Given the description of an element on the screen output the (x, y) to click on. 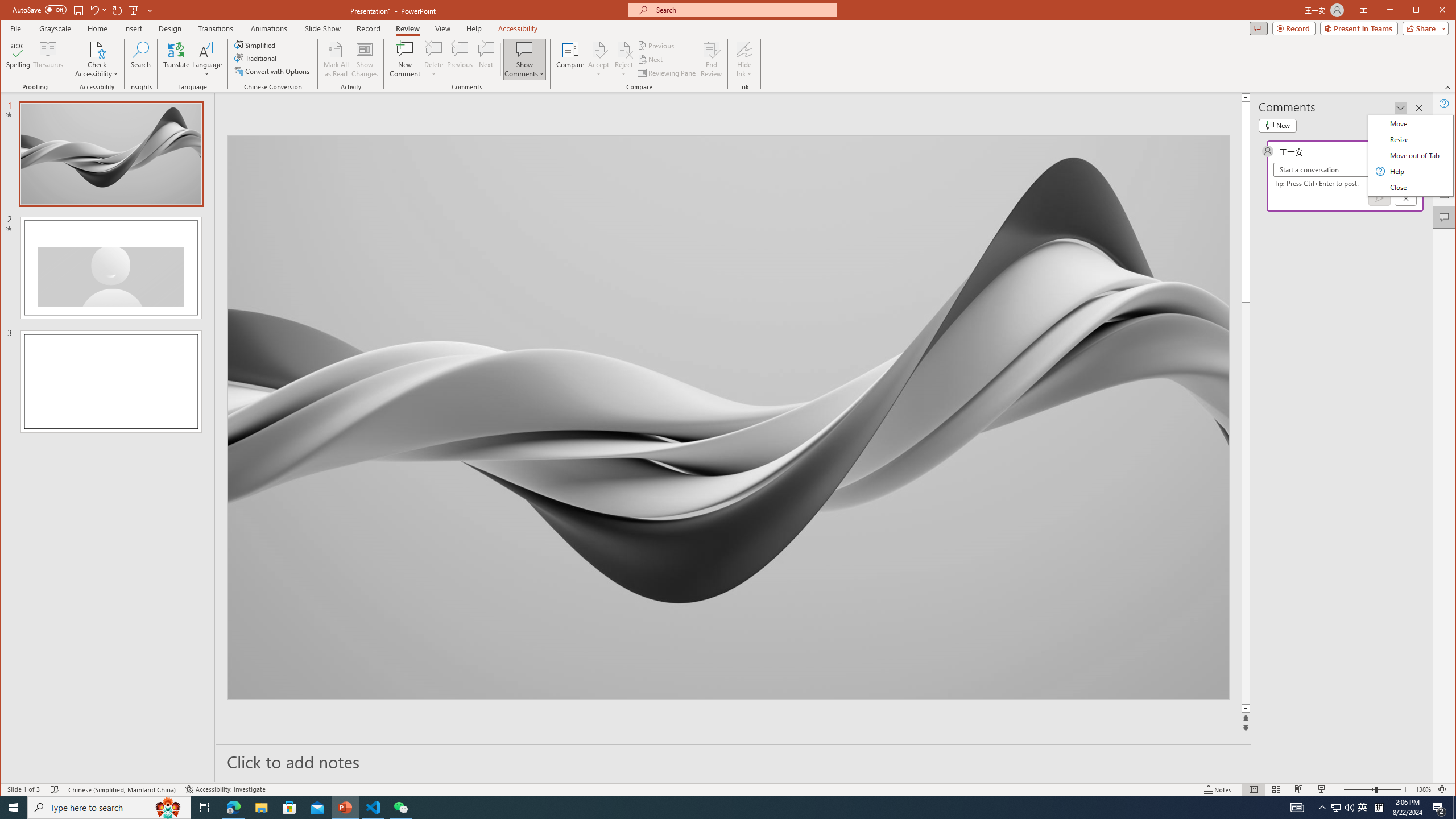
Accessibility (518, 28)
Animations (269, 28)
Transitions (215, 28)
Wavy 3D art (728, 416)
Search (140, 59)
Visual Studio Code - 1 running window (373, 807)
Delete (433, 48)
Show Comments (524, 59)
Show desktop (1454, 807)
Microsoft Store (289, 807)
Slide (110, 381)
View (443, 28)
Previous (657, 45)
Class: MsoCommandBar (728, 789)
